Given the description of an element on the screen output the (x, y) to click on. 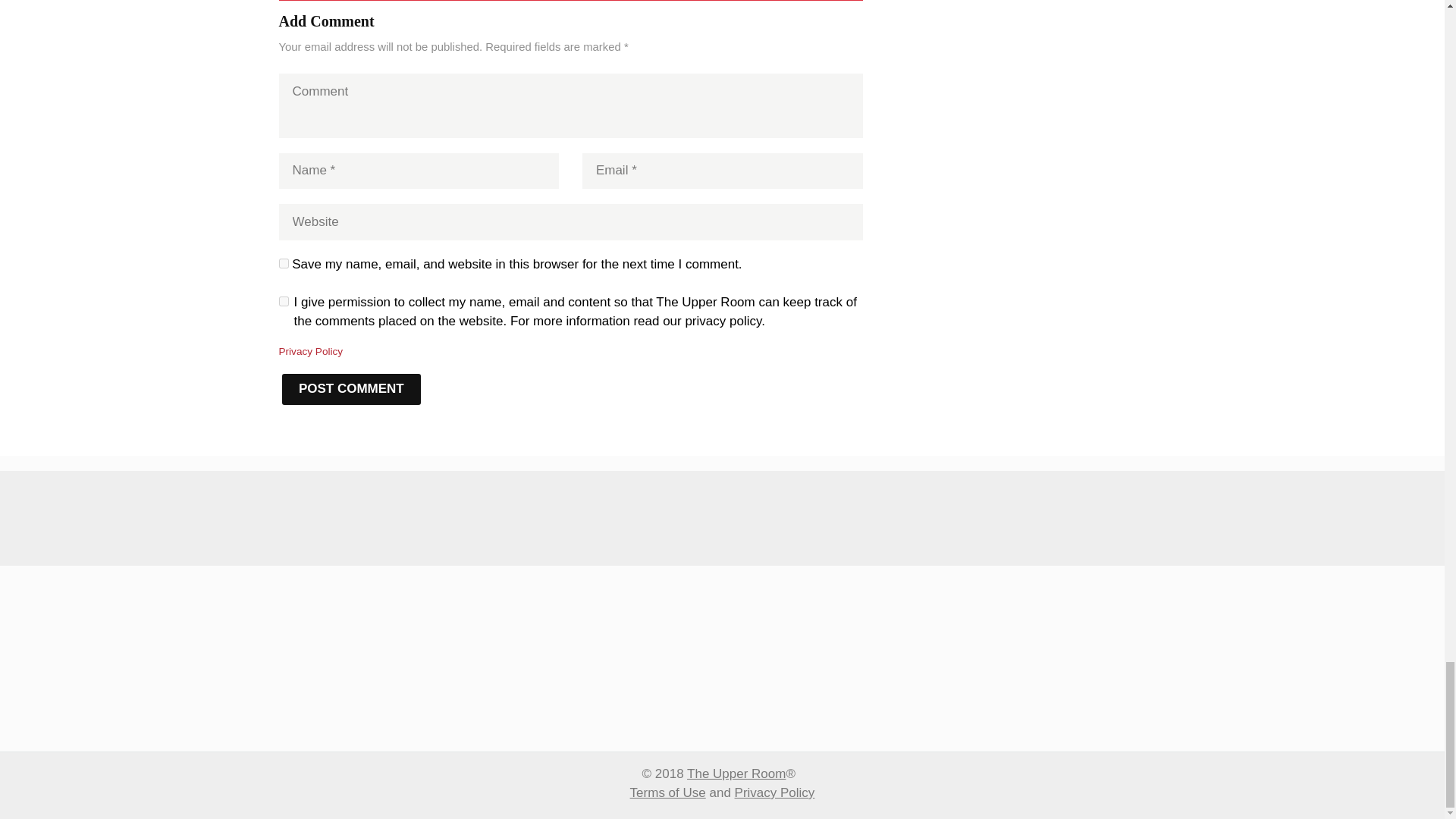
1 (283, 301)
yes (283, 263)
Post Comment (352, 388)
